Given the description of an element on the screen output the (x, y) to click on. 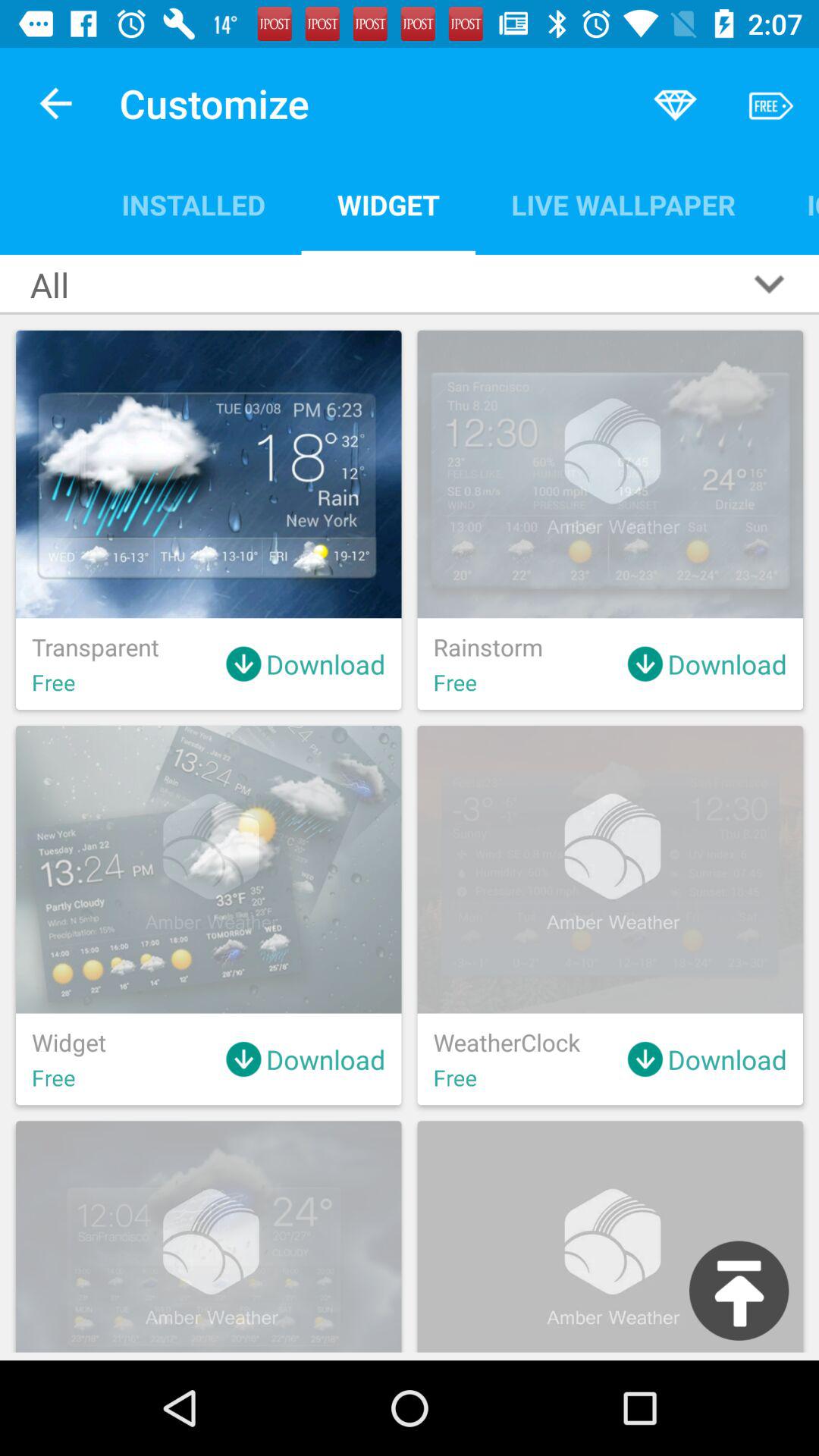
turn on icon next to widget item (623, 204)
